Given the description of an element on the screen output the (x, y) to click on. 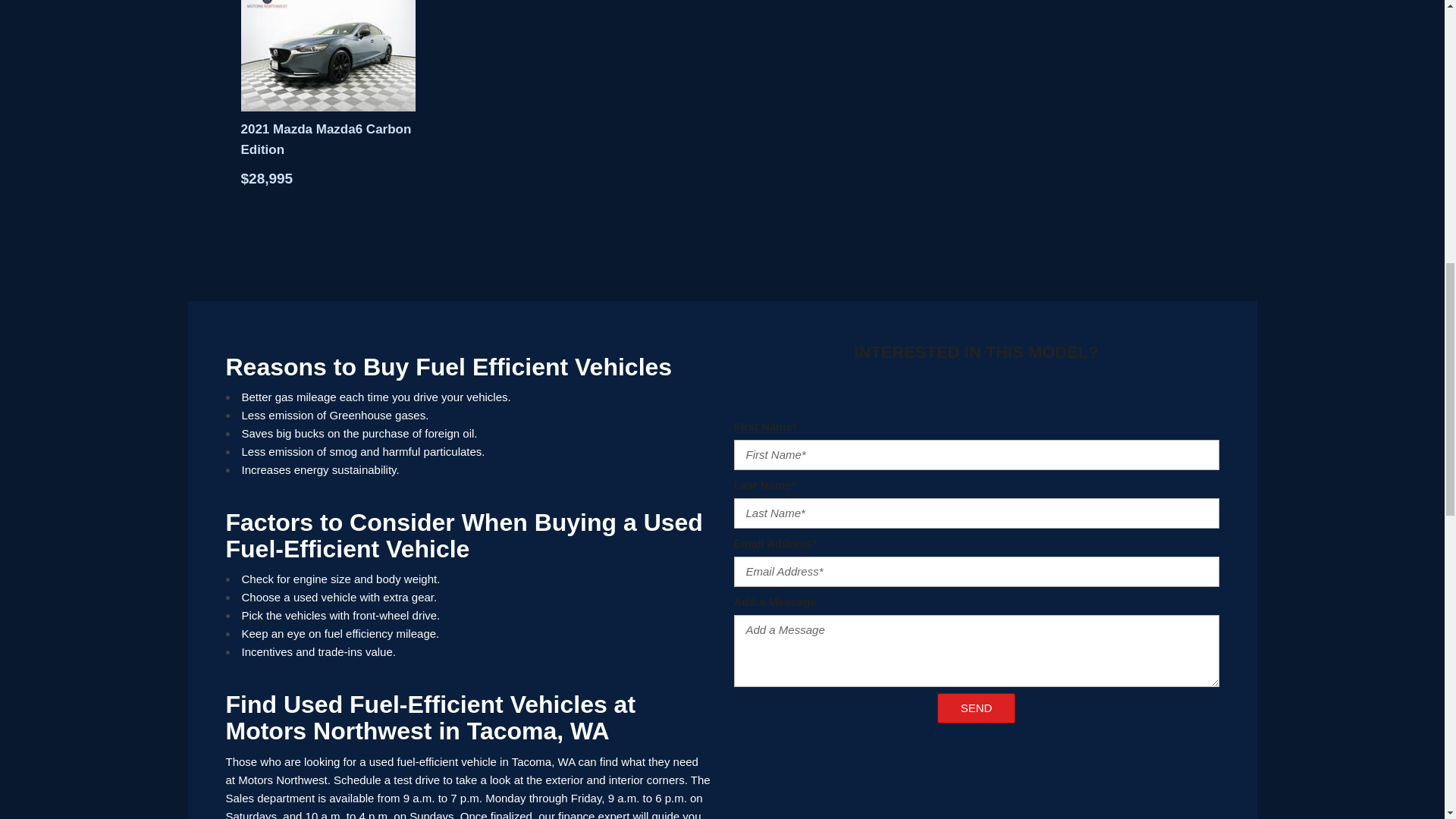
2021 Mazda Mazda6 Carbon Edition (327, 55)
